Given the description of an element on the screen output the (x, y) to click on. 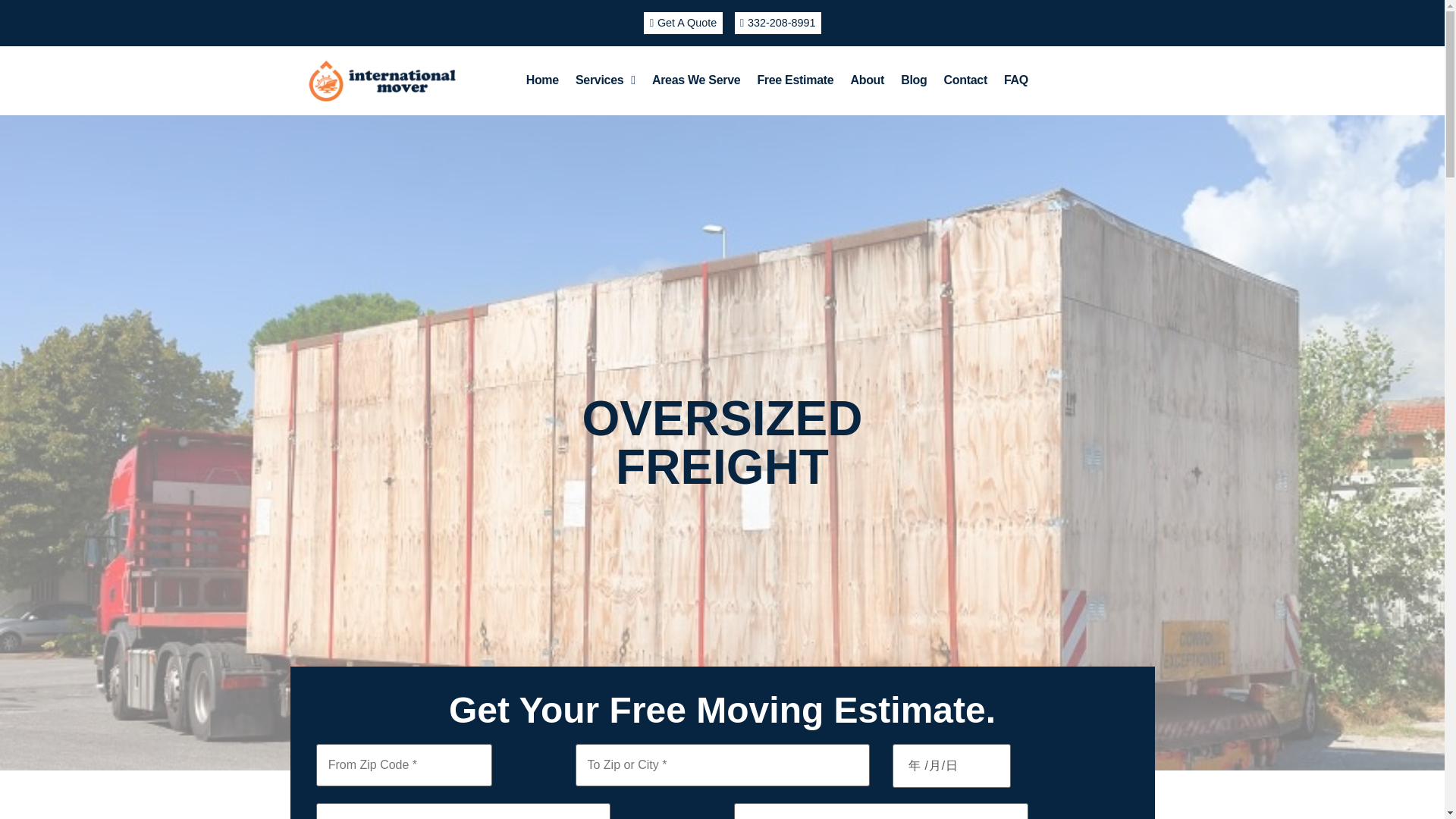
332-208-8991 (777, 23)
Contact (964, 79)
Get A Quote (682, 23)
Home (542, 79)
Services (605, 79)
About (866, 79)
Free Estimate (794, 79)
Blog (913, 79)
FAQ (1015, 79)
Areas We Serve (695, 79)
